Given the description of an element on the screen output the (x, y) to click on. 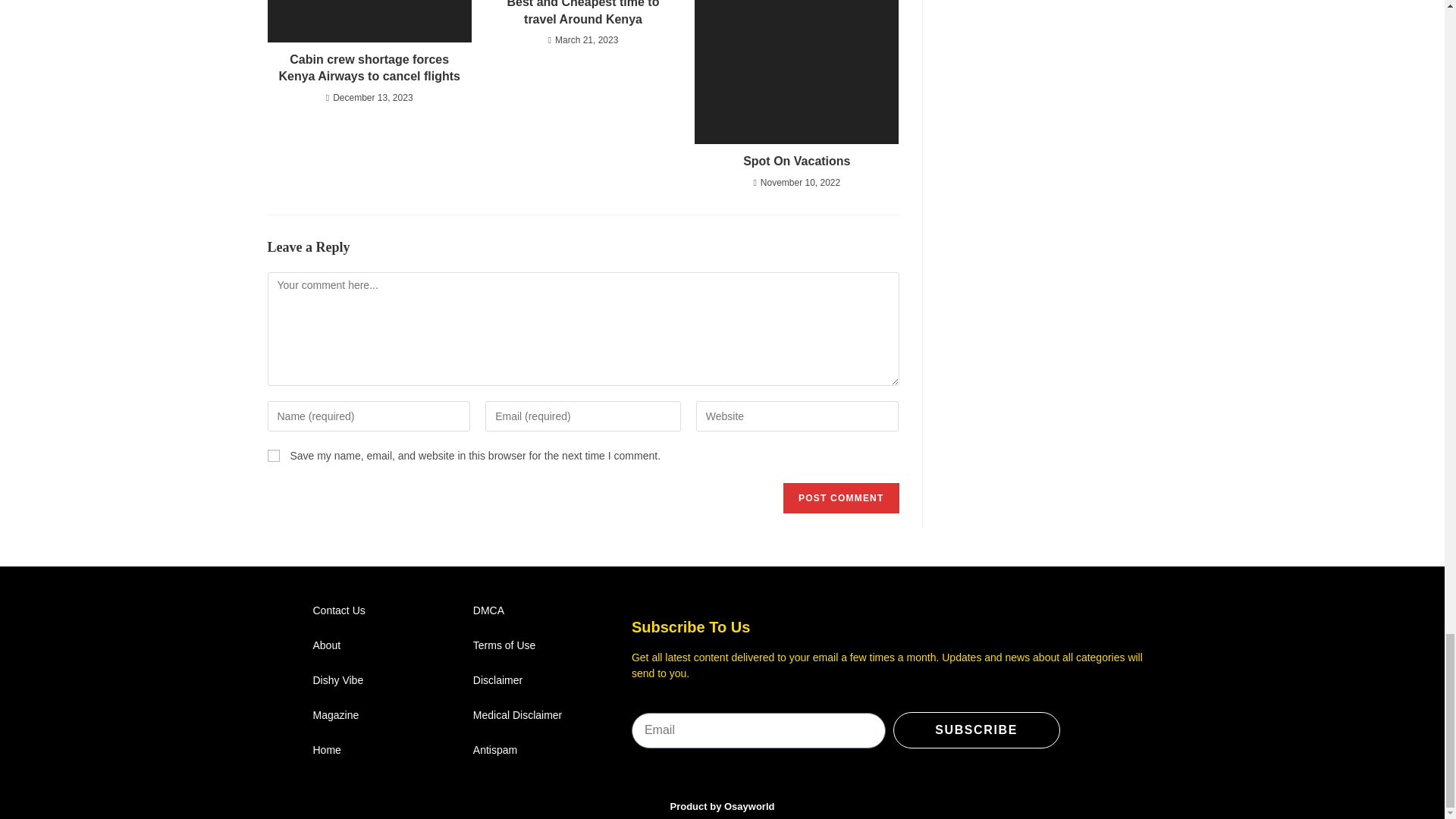
Spot On Vacations (796, 161)
yes (272, 455)
Post Comment (840, 498)
Best and Cheapest time to travel Around Kenya (582, 13)
Cabin crew shortage forces Kenya Airways to cancel flights (368, 68)
Post Comment (840, 498)
